Given the description of an element on the screen output the (x, y) to click on. 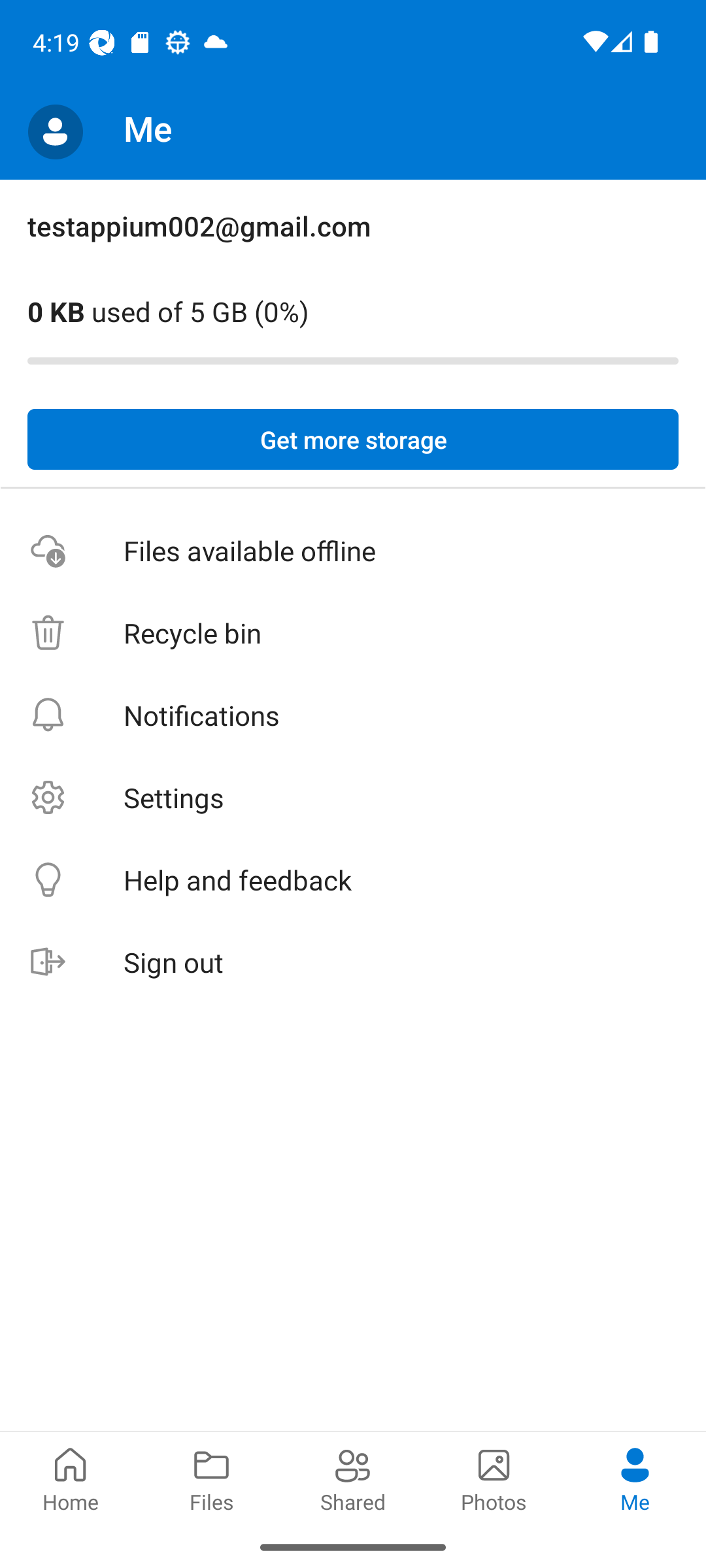
Account switcher (55, 131)
Get more storage (352, 439)
Files available offline (353, 550)
Recycle bin (353, 633)
Notifications (353, 714)
Settings (353, 796)
Help and feedback (353, 879)
Sign out (353, 962)
Home pivot Home (70, 1478)
Files pivot Files (211, 1478)
Shared pivot Shared (352, 1478)
Photos pivot Photos (493, 1478)
